Given the description of an element on the screen output the (x, y) to click on. 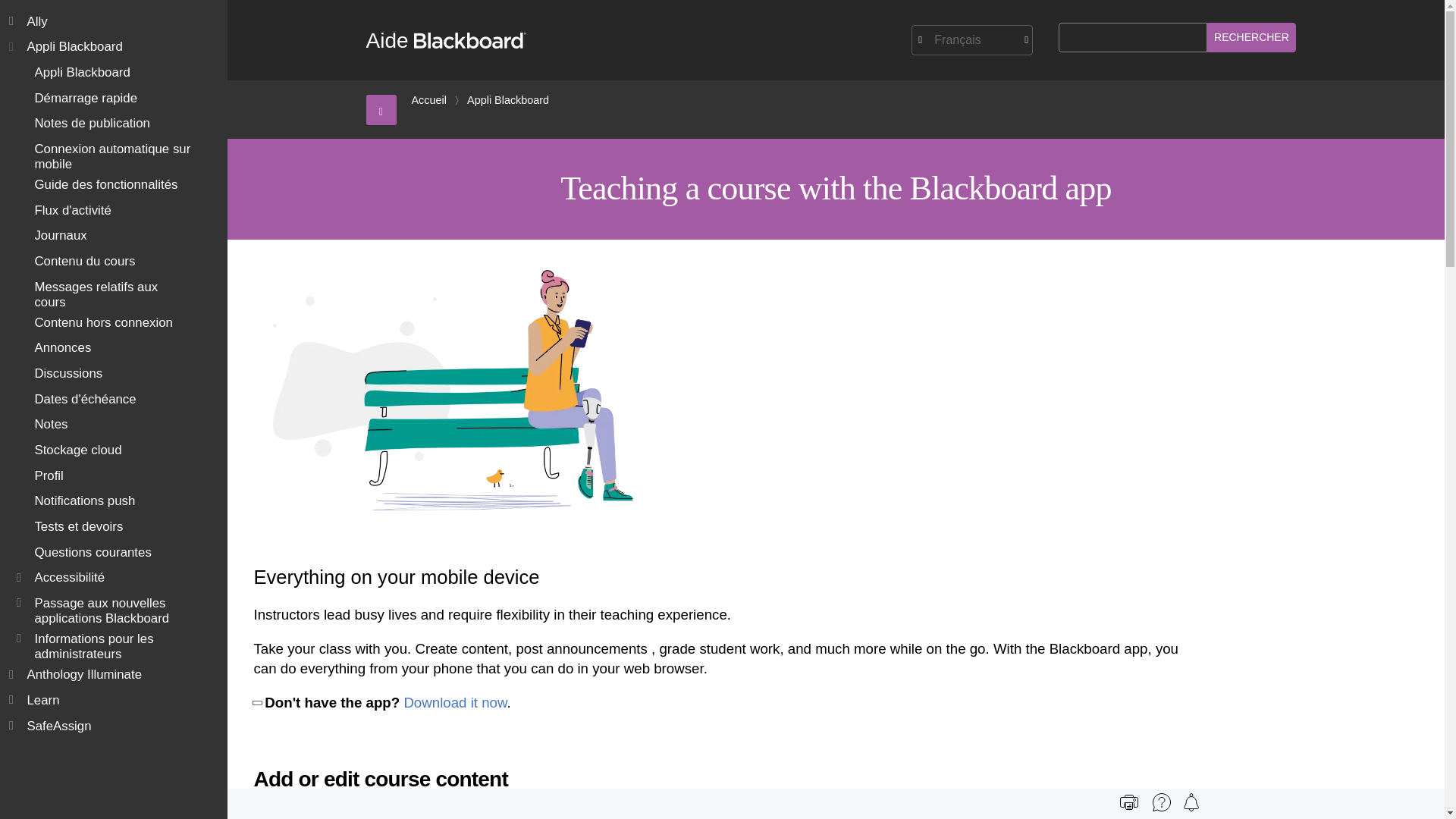
Appli Blackboard (507, 99)
Rechercher (1251, 37)
Rechercher (1251, 37)
Aide Blackboard (445, 40)
Accueil (427, 99)
